Given the description of an element on the screen output the (x, y) to click on. 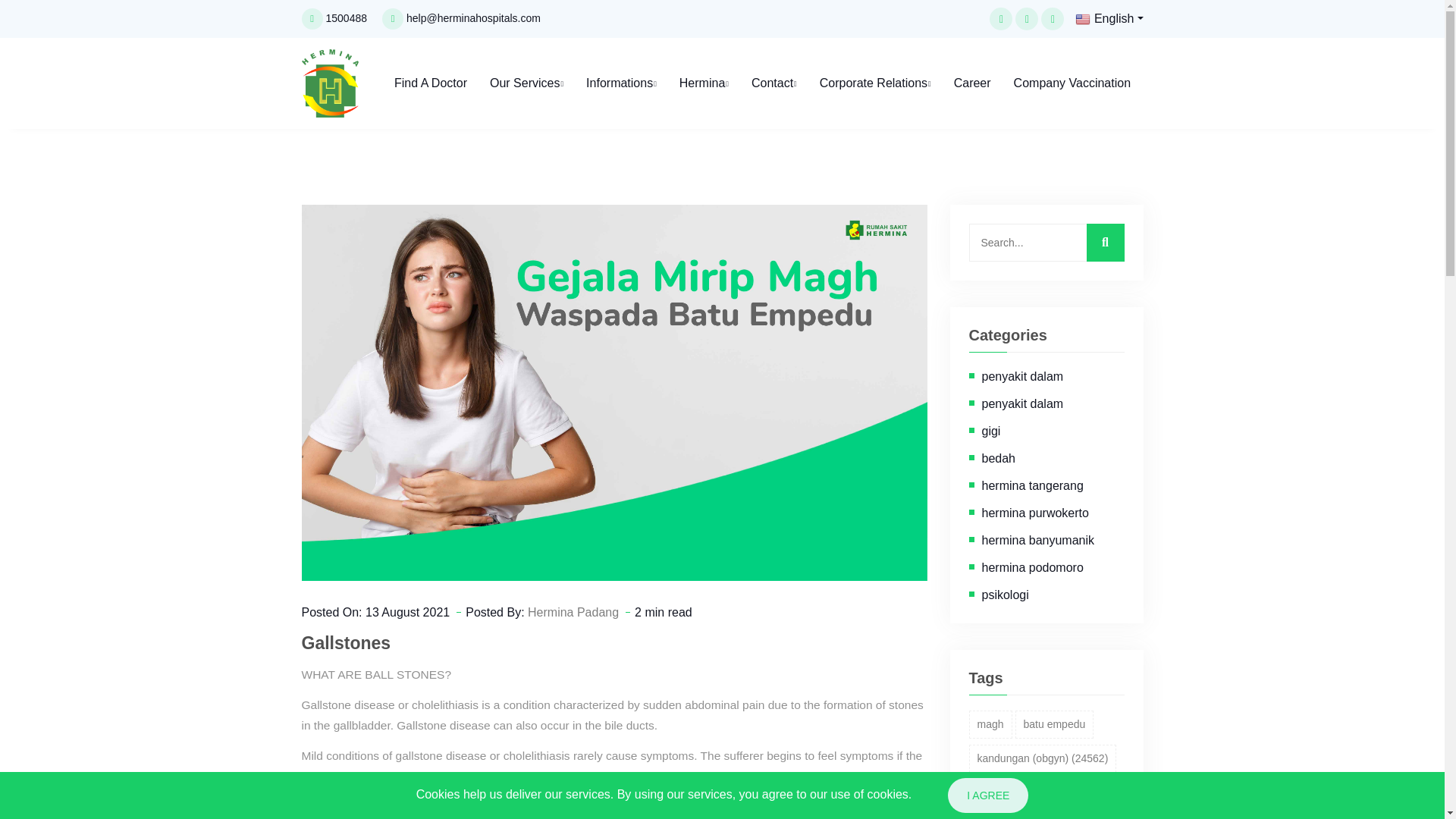
Corporate Relations (875, 83)
Hermina (704, 83)
Contact (773, 83)
English (1108, 18)
Find A Doctor (430, 83)
Our Services (526, 83)
Informations (621, 83)
1500488 (347, 18)
